Given the description of an element on the screen output the (x, y) to click on. 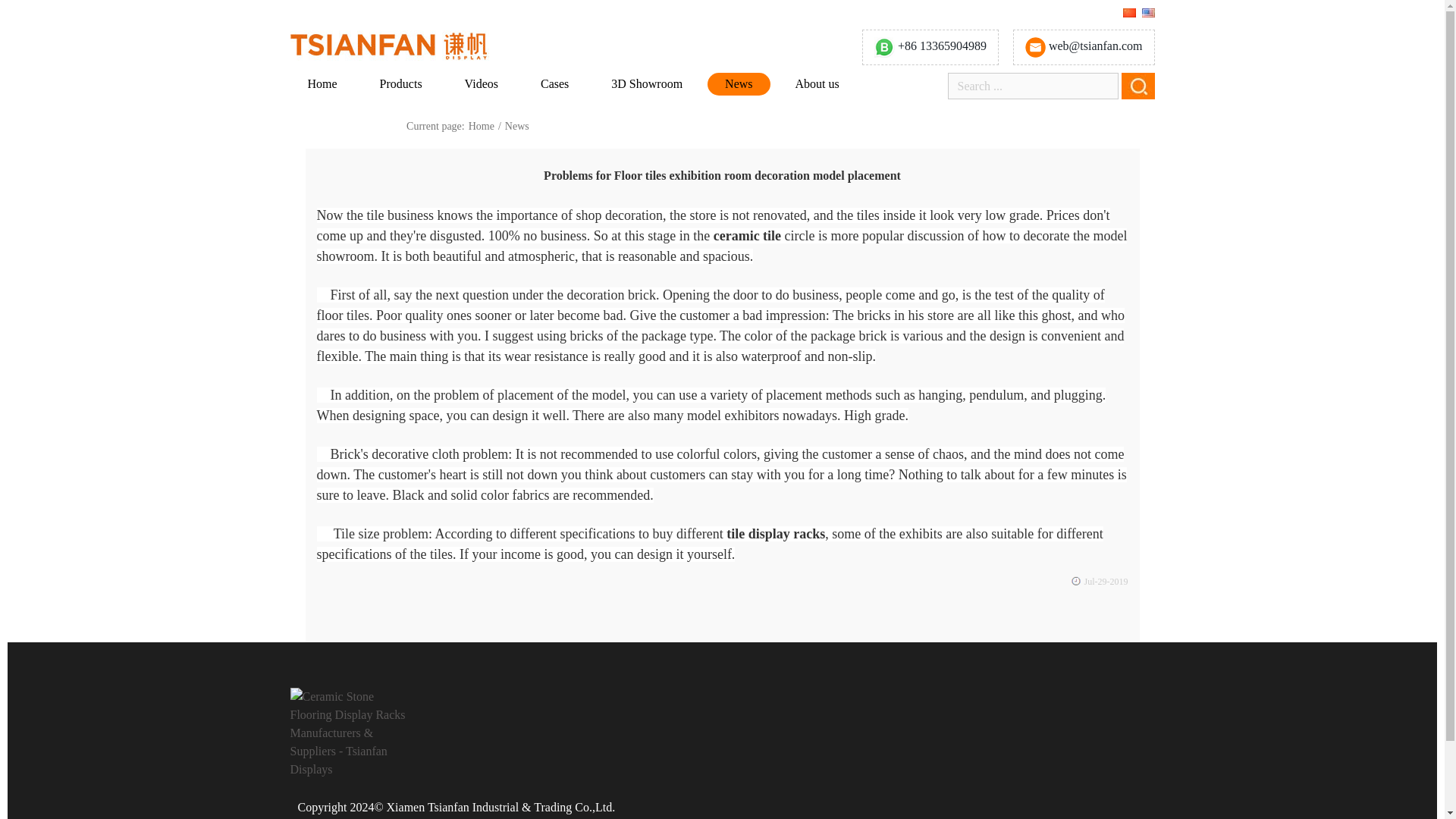
Home (321, 83)
Products (400, 83)
